Given the description of an element on the screen output the (x, y) to click on. 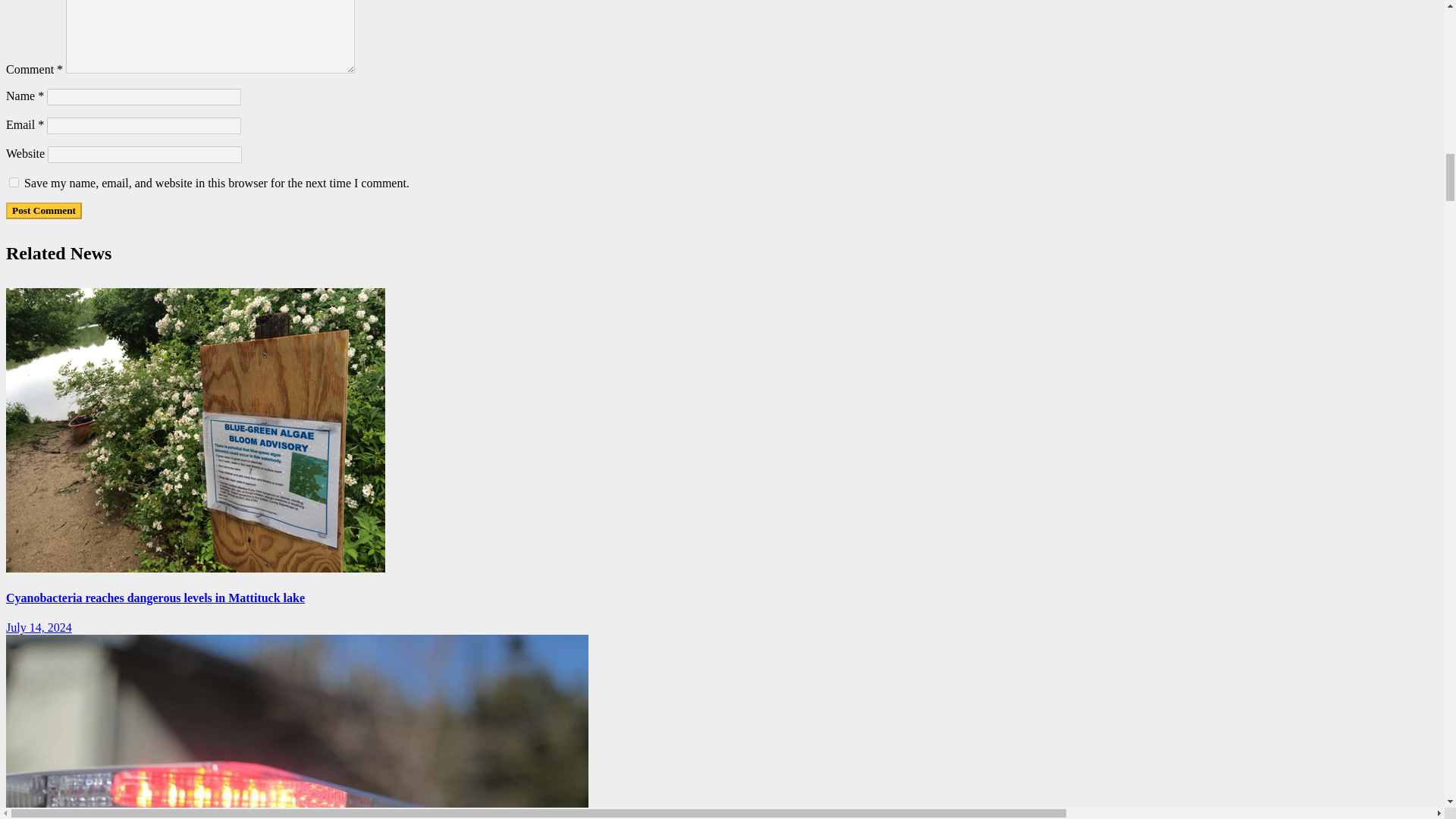
Post Comment (43, 210)
Post Comment (43, 210)
yes (13, 182)
